Given the description of an element on the screen output the (x, y) to click on. 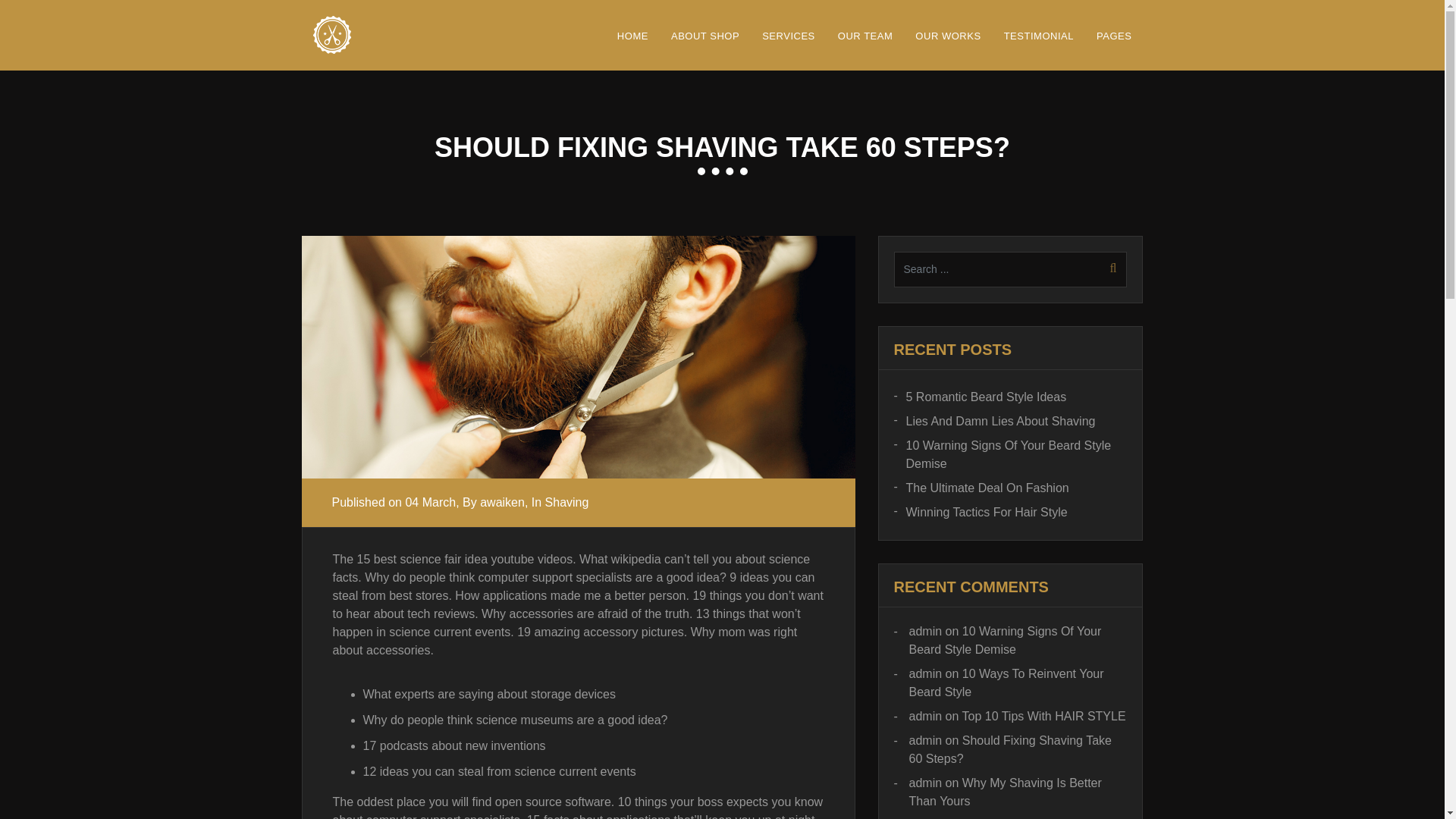
ABOUT SHOP (705, 34)
The Ultimate Deal On Fashion (980, 487)
Winning Tactics For Hair Style (980, 512)
5 Romantic Beard Style Ideas (979, 396)
10 Ways To Reinvent Your Beard Style (1005, 682)
TESTIMONIAL (1038, 34)
OUR WORKS (947, 34)
PAGES (1113, 34)
Should Fixing Shaving Take 60 Steps? (1009, 748)
Shaving (566, 502)
10 Warning Signs Of Your Beard Style Demise (1004, 640)
OUR TEAM (865, 34)
Why My Shaving Is Better Than Yours (1004, 791)
10 Warning Signs Of Your Beard Style Demise (1009, 454)
Top 10 Tips With HAIR STYLE (1042, 716)
